Given the description of an element on the screen output the (x, y) to click on. 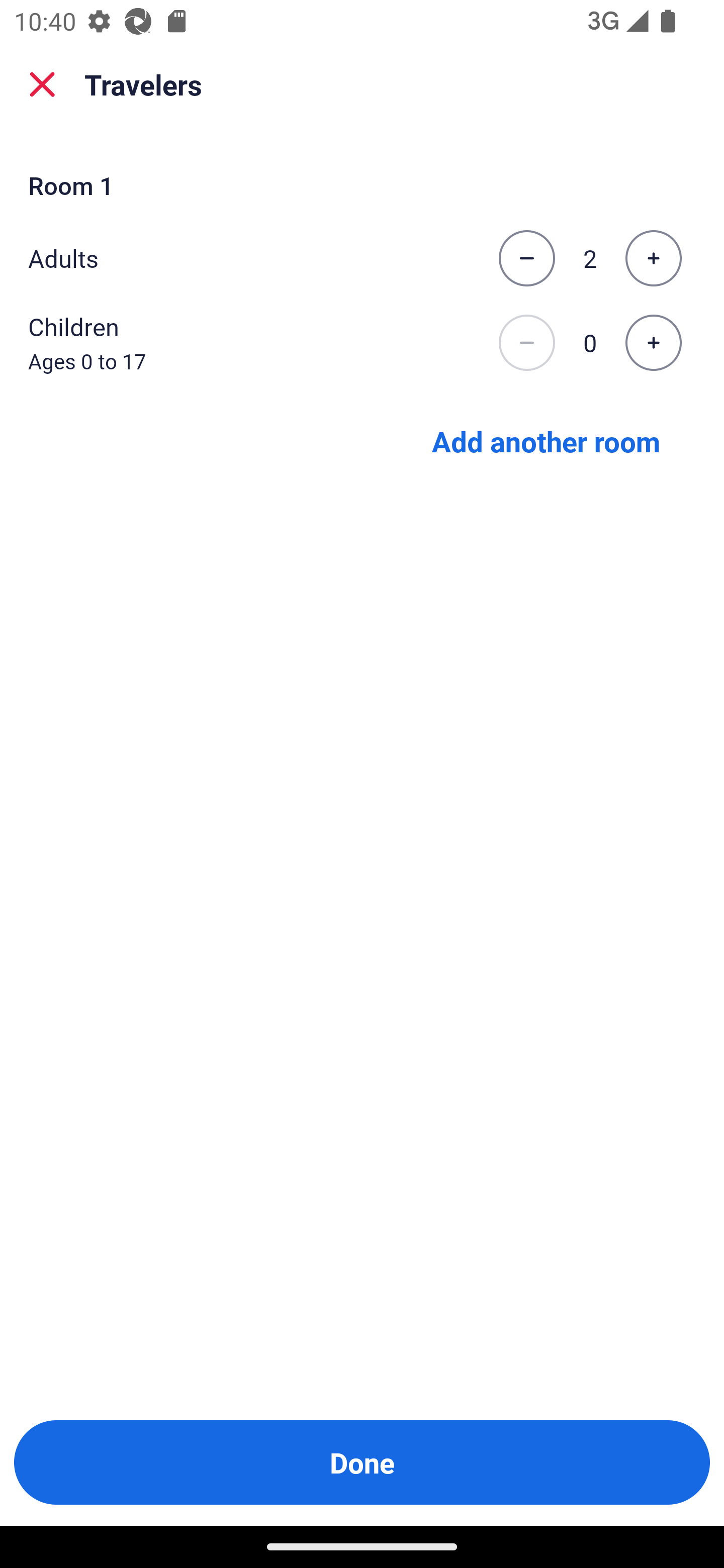
close (42, 84)
Decrease the number of adults (526, 258)
Increase the number of adults (653, 258)
Decrease the number of children (526, 343)
Increase the number of children (653, 343)
Add another room (545, 440)
Done (361, 1462)
